Given the description of an element on the screen output the (x, y) to click on. 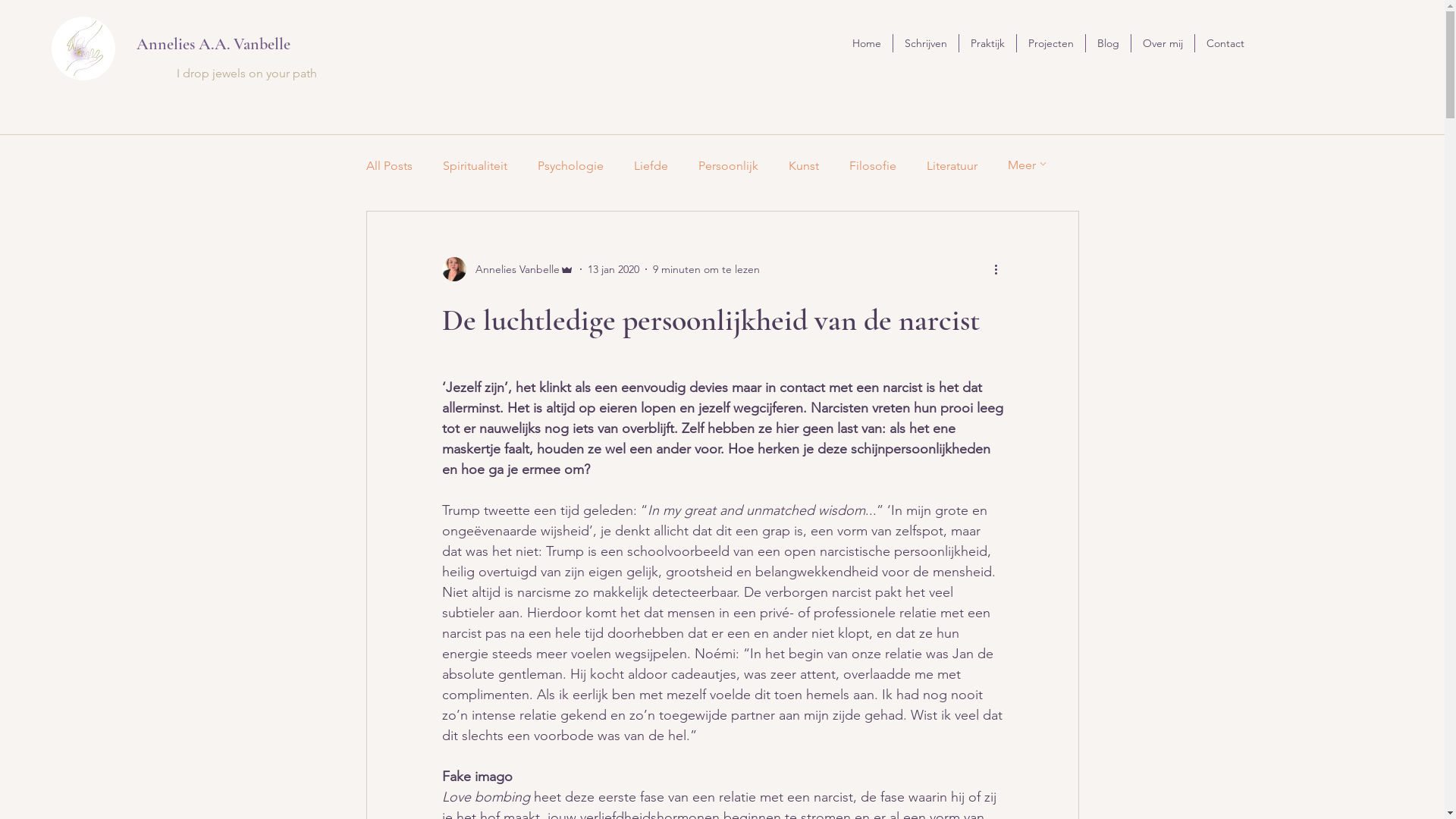
Filosofie Element type: text (872, 164)
Projecten Element type: text (1050, 43)
Kunst Element type: text (803, 164)
Annelies A.A. Vanbelle Element type: text (213, 43)
Schrijven Element type: text (925, 43)
All Posts Element type: text (388, 164)
Blog Element type: text (1107, 43)
Liefde Element type: text (650, 164)
Literatuur Element type: text (951, 164)
Annelies Vanbelle Element type: text (507, 269)
Praktijk Element type: text (987, 43)
Persoonlijk Element type: text (727, 164)
Untitled design-45.jpg Element type: hover (83, 48)
Psychologie Element type: text (569, 164)
Spiritualiteit Element type: text (474, 164)
Contact Element type: text (1225, 43)
Over mij Element type: text (1162, 43)
Home Element type: text (866, 43)
